Given the description of an element on the screen output the (x, y) to click on. 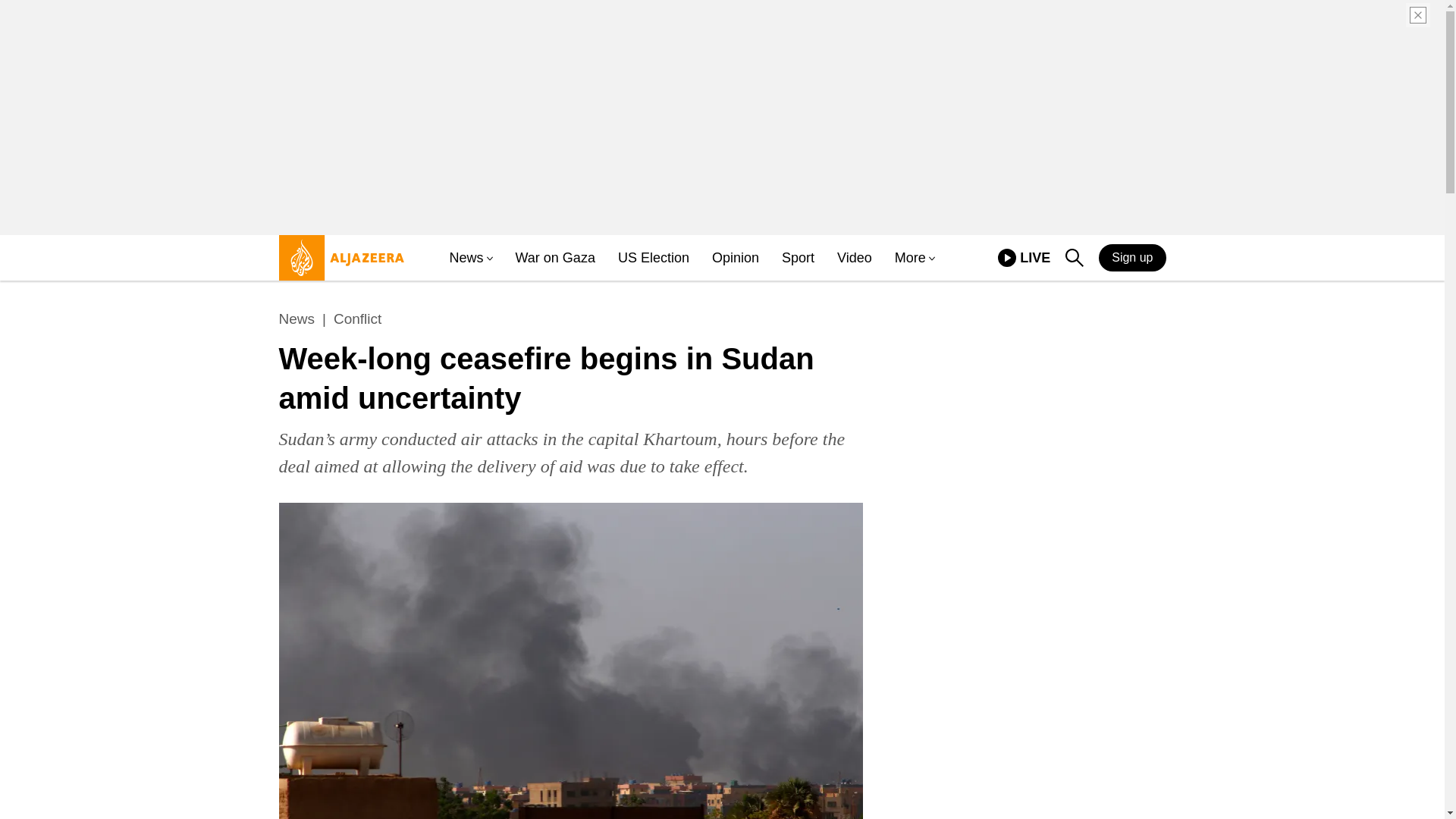
Skip to Content (337, 264)
play (1006, 257)
Opinion (1023, 257)
US Election (734, 257)
War on Gaza (652, 257)
News (555, 257)
More (465, 257)
Video (910, 257)
search (854, 257)
Sport (1074, 257)
Conflict (797, 257)
News (357, 319)
Sign up (297, 319)
